Given the description of an element on the screen output the (x, y) to click on. 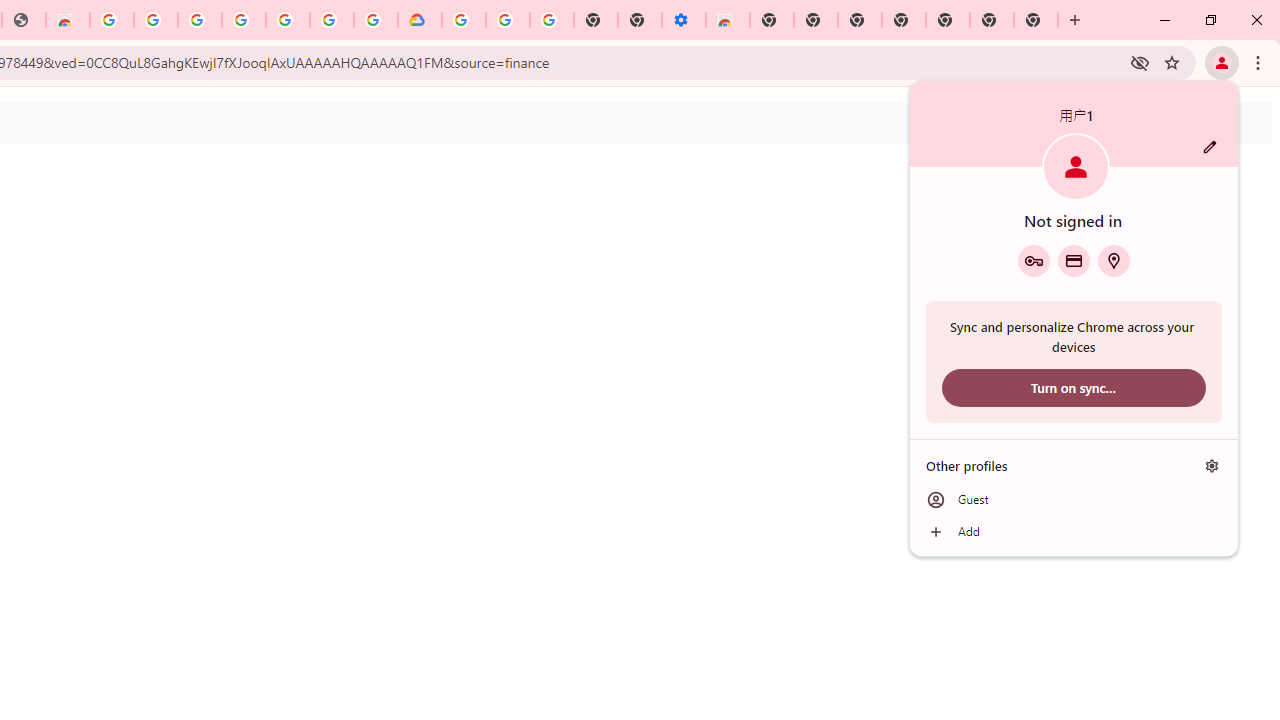
Settings - Accessibility (683, 20)
Turn cookies on or off - Computer - Google Account Help (551, 20)
Guest (1073, 499)
Chrome Web Store - Household (67, 20)
Sign in - Google Accounts (331, 20)
Payment methods (1074, 260)
Ad Settings (155, 20)
Google Password Manager (1033, 260)
Customize profile (1210, 147)
Third-party cookies blocked (1139, 62)
